Given the description of an element on the screen output the (x, y) to click on. 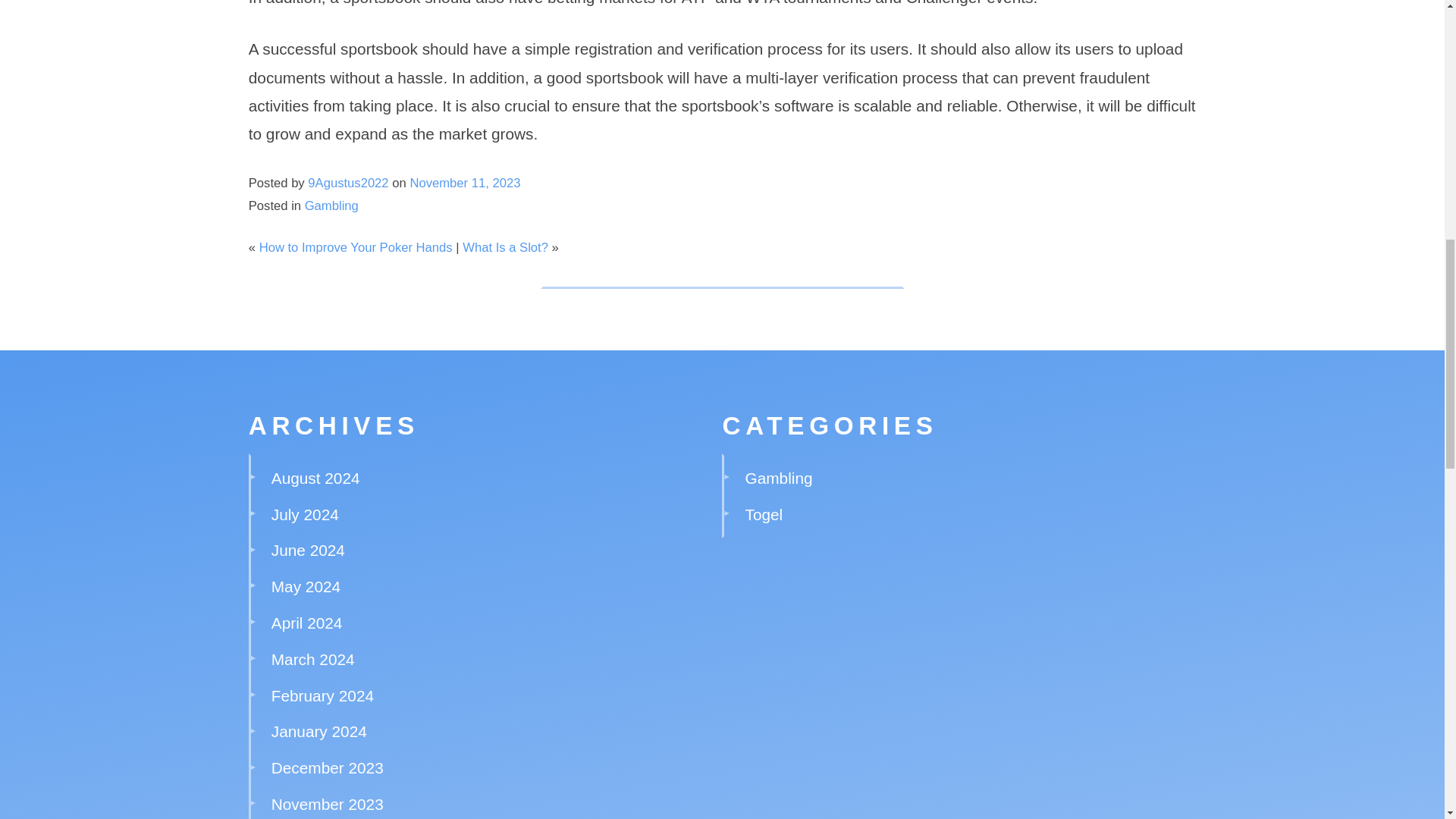
Gambling (778, 477)
March 2024 (312, 659)
January 2024 (318, 731)
How to Improve Your Poker Hands (355, 247)
Togel (764, 514)
9Agustus2022 (347, 183)
Gambling (331, 205)
November 11, 2023 (464, 183)
May 2024 (305, 586)
February 2024 (322, 695)
